Given the description of an element on the screen output the (x, y) to click on. 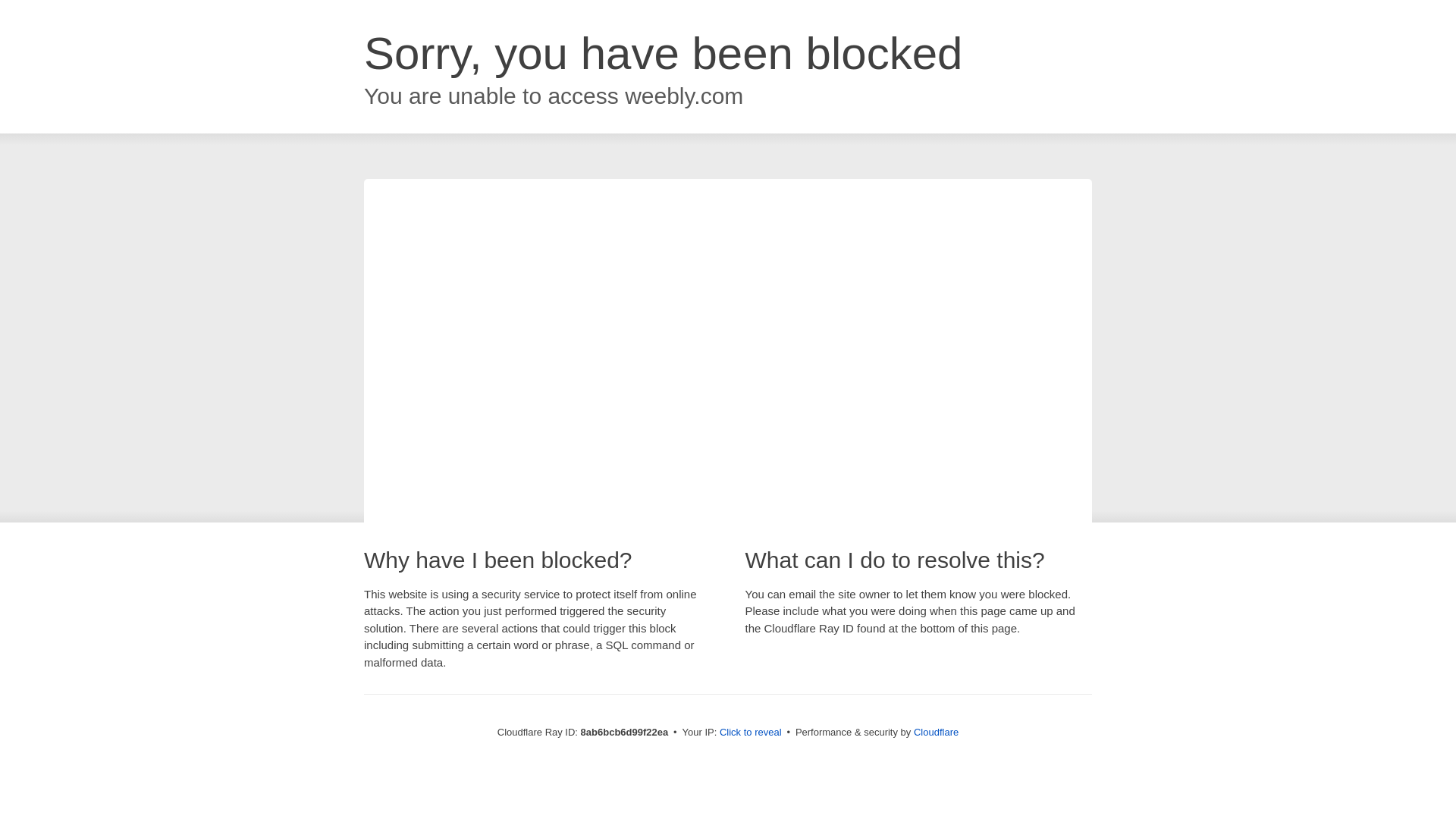
Click to reveal (750, 732)
Cloudflare (936, 731)
